Given the description of an element on the screen output the (x, y) to click on. 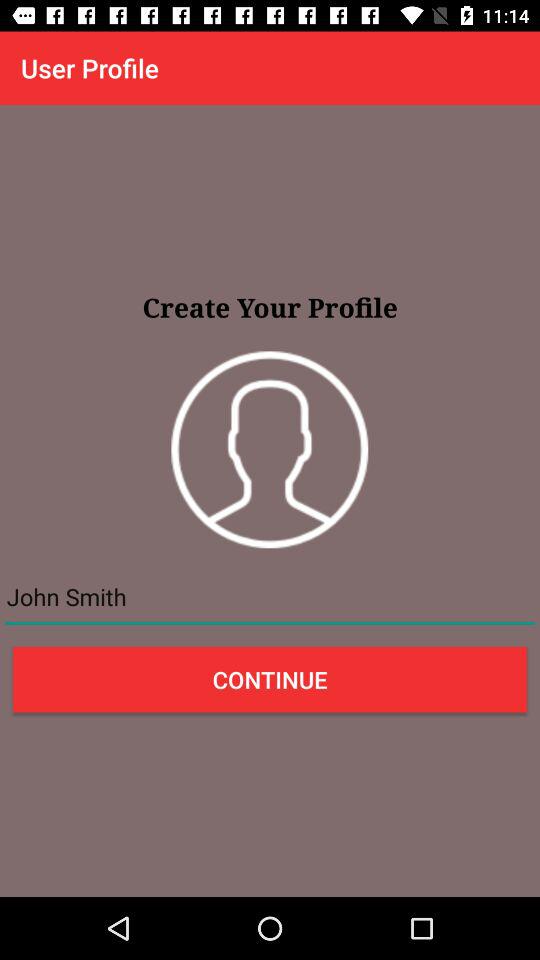
turn on the item below the john smith (269, 679)
